Given the description of an element on the screen output the (x, y) to click on. 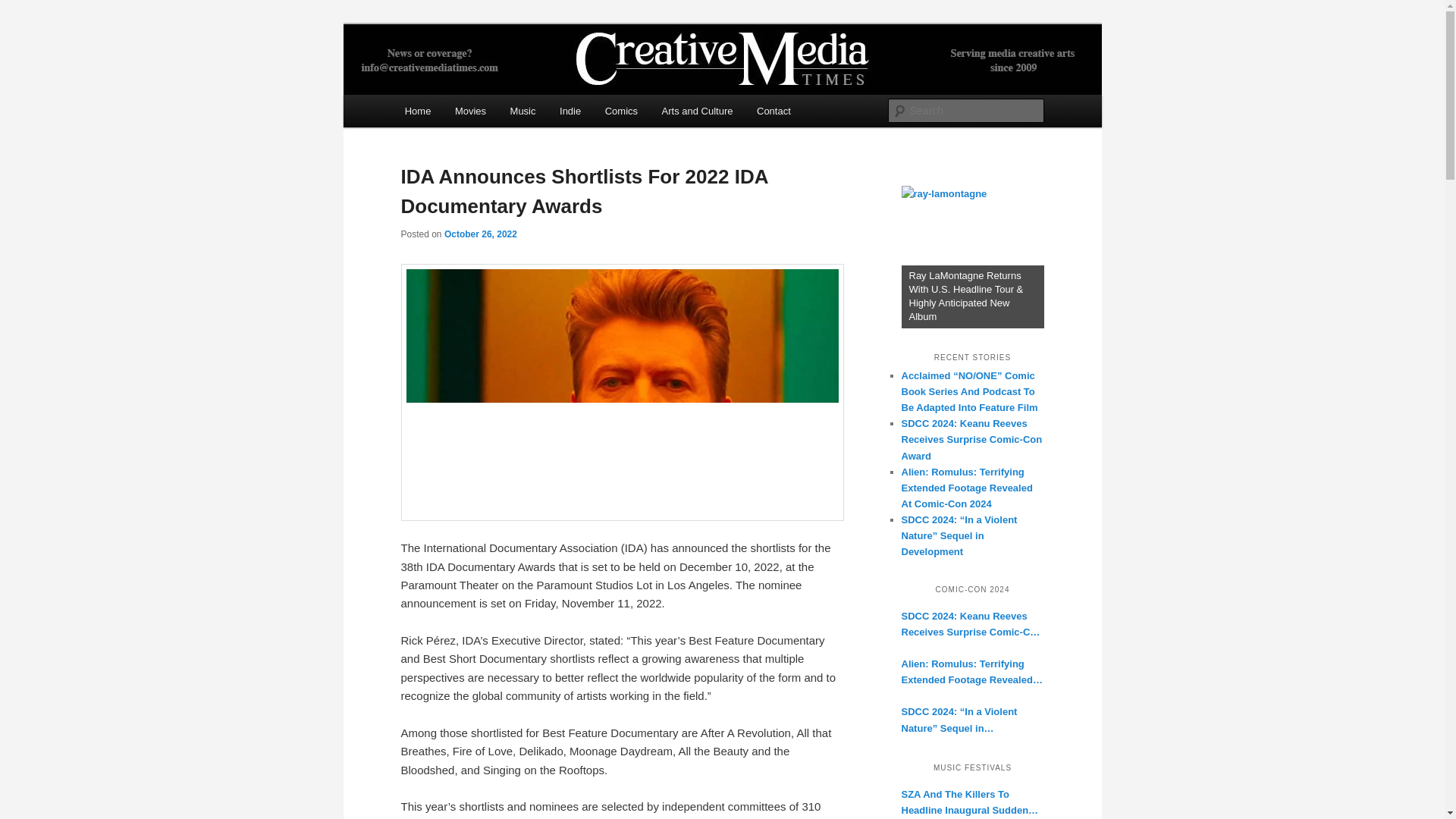
Contact (773, 111)
Music (522, 111)
Movies (469, 111)
Indie (569, 111)
Comics (620, 111)
SDCC 2024: Keanu Reeves Receives Surprise Comic-Con Award (971, 439)
Creative Media Times (515, 78)
Home (417, 111)
October 26, 2022 (480, 234)
SDCC 2024: Keanu Reeves Receives Surprise Comic-Con Award (972, 623)
Search (24, 8)
Arts and Culture (696, 111)
7:08 pm (480, 234)
